Given the description of an element on the screen output the (x, y) to click on. 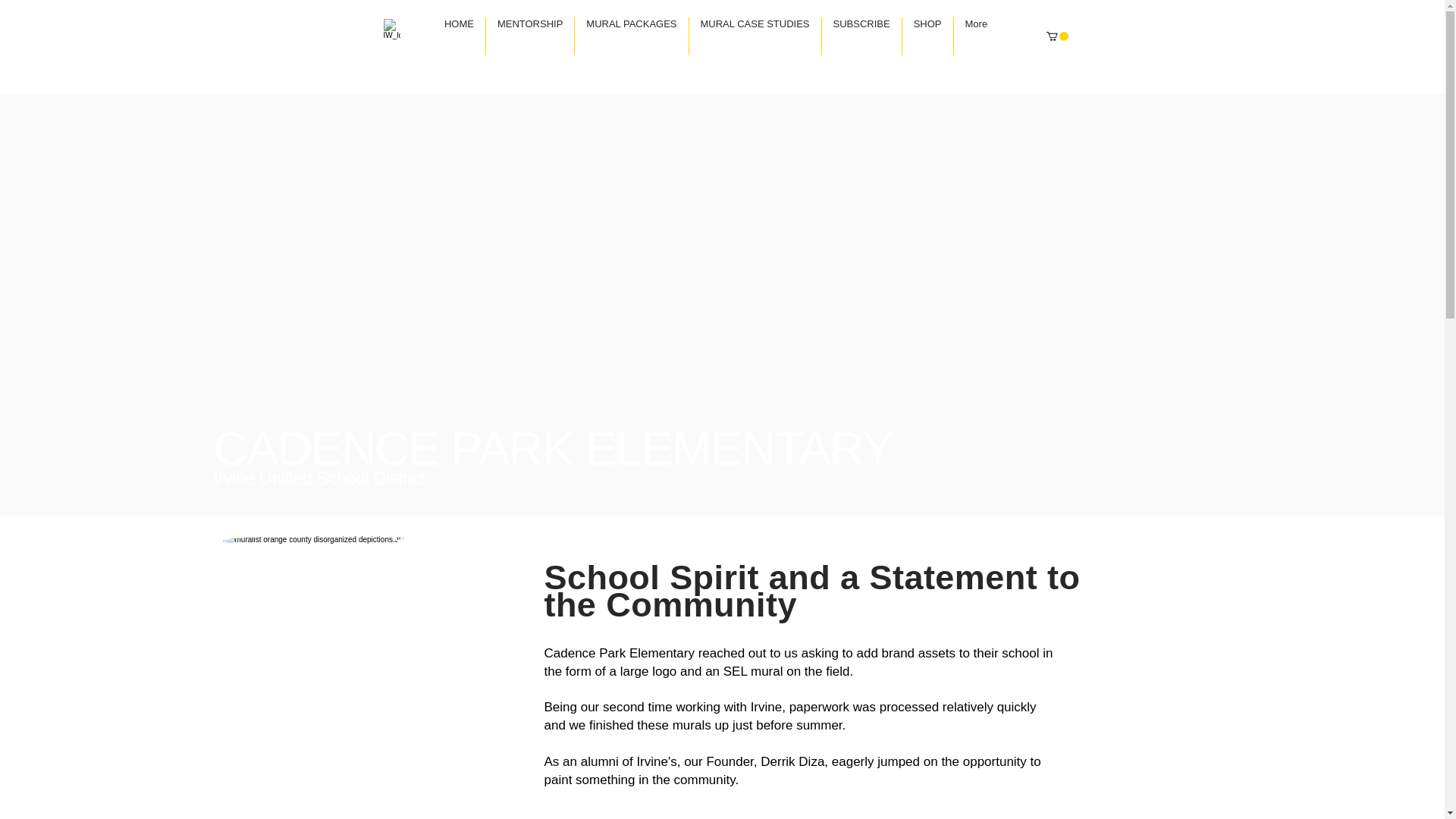
MENTORSHIP (529, 36)
HOME (458, 36)
SHOP (927, 36)
SUBSCRIBE (861, 36)
MURAL PACKAGES (631, 36)
